Given the description of an element on the screen output the (x, y) to click on. 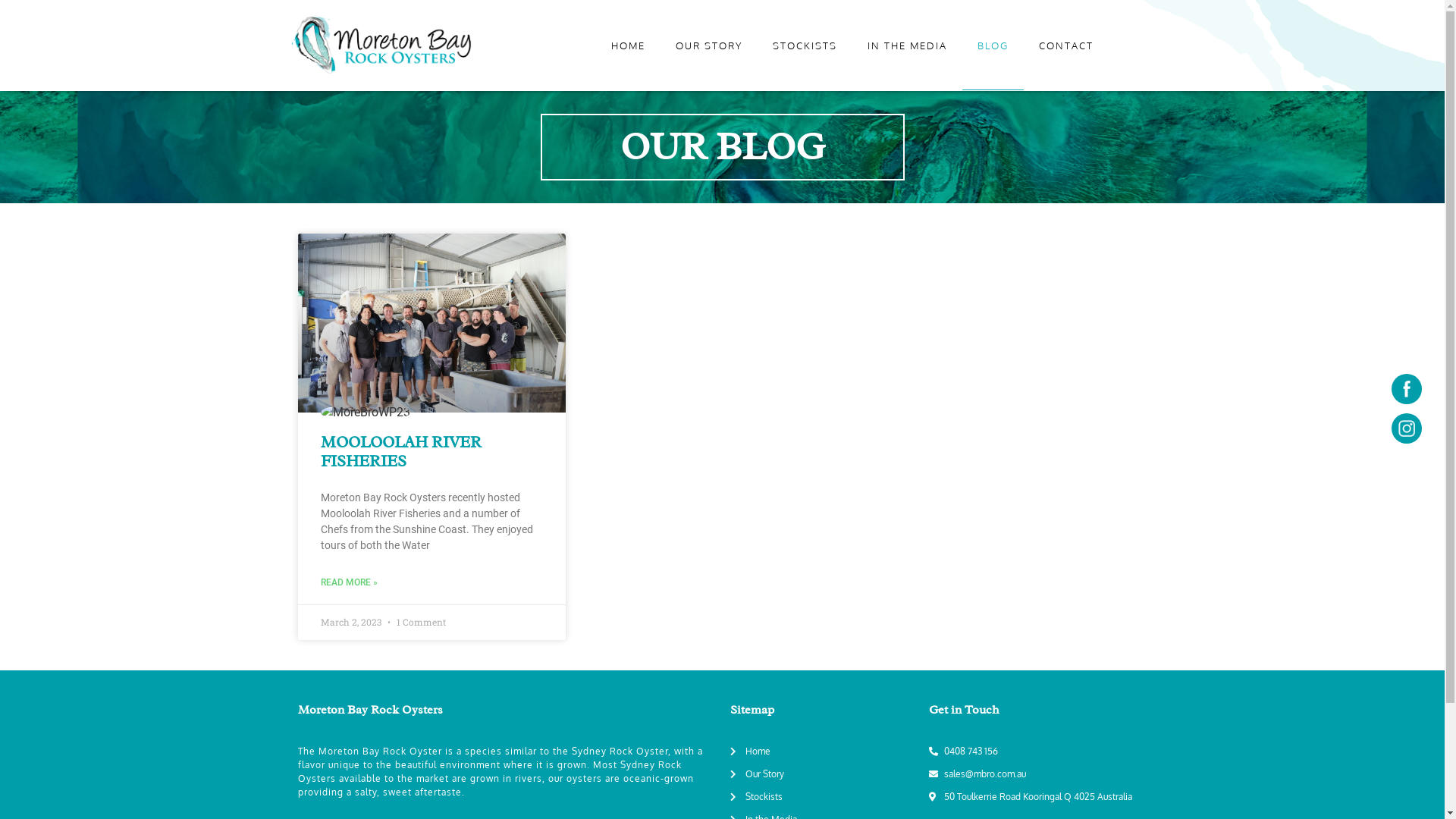
STOCKISTS Element type: text (803, 45)
Instagram Element type: hover (1406, 428)
CONTACT Element type: text (1065, 45)
0408 743 156 Element type: text (1034, 751)
Stockists Element type: text (821, 796)
MOOLOOLAH RIVER FISHERIES Element type: text (400, 451)
Facebook Element type: hover (1406, 388)
IN THE MEDIA Element type: text (907, 45)
BLOG Element type: text (991, 45)
OUR STORY Element type: text (707, 45)
Home Element type: text (821, 751)
sales@mbro.com.au Element type: text (1034, 774)
HOME Element type: text (628, 45)
Our Story Element type: text (821, 774)
